Given the description of an element on the screen output the (x, y) to click on. 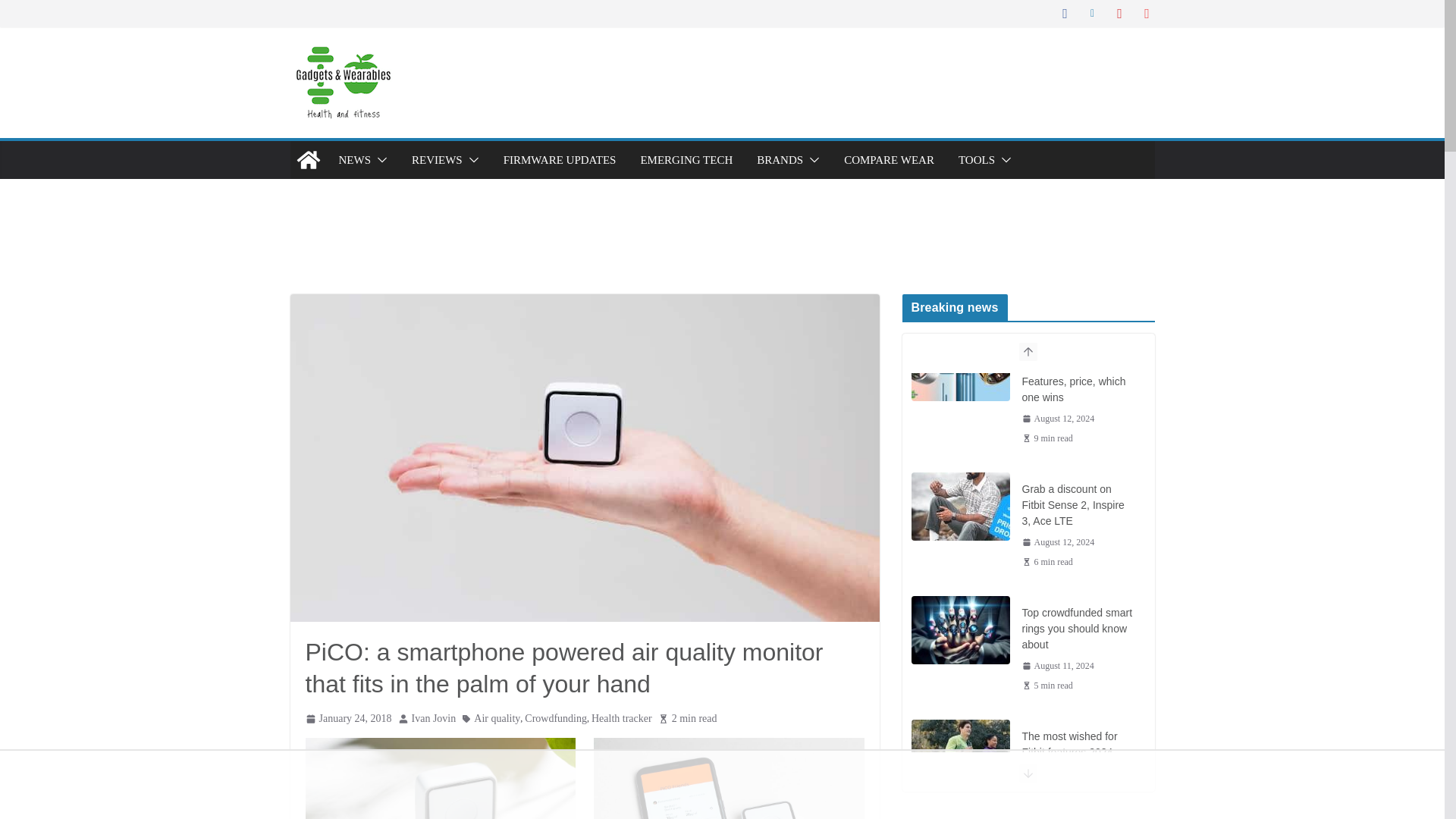
12:44 pm (347, 718)
BRANDS (780, 159)
Grab a discount on Fitbit Sense 2, Inspire 3, Ace LTE (960, 506)
REVIEWS (437, 159)
NEWS (354, 159)
EMERGING TECH (686, 159)
Grab a discount on Fitbit Sense 2, Inspire 3, Ace LTE (1078, 505)
Ivan Jovin (434, 718)
1:40 pm (1058, 418)
